Given the description of an element on the screen output the (x, y) to click on. 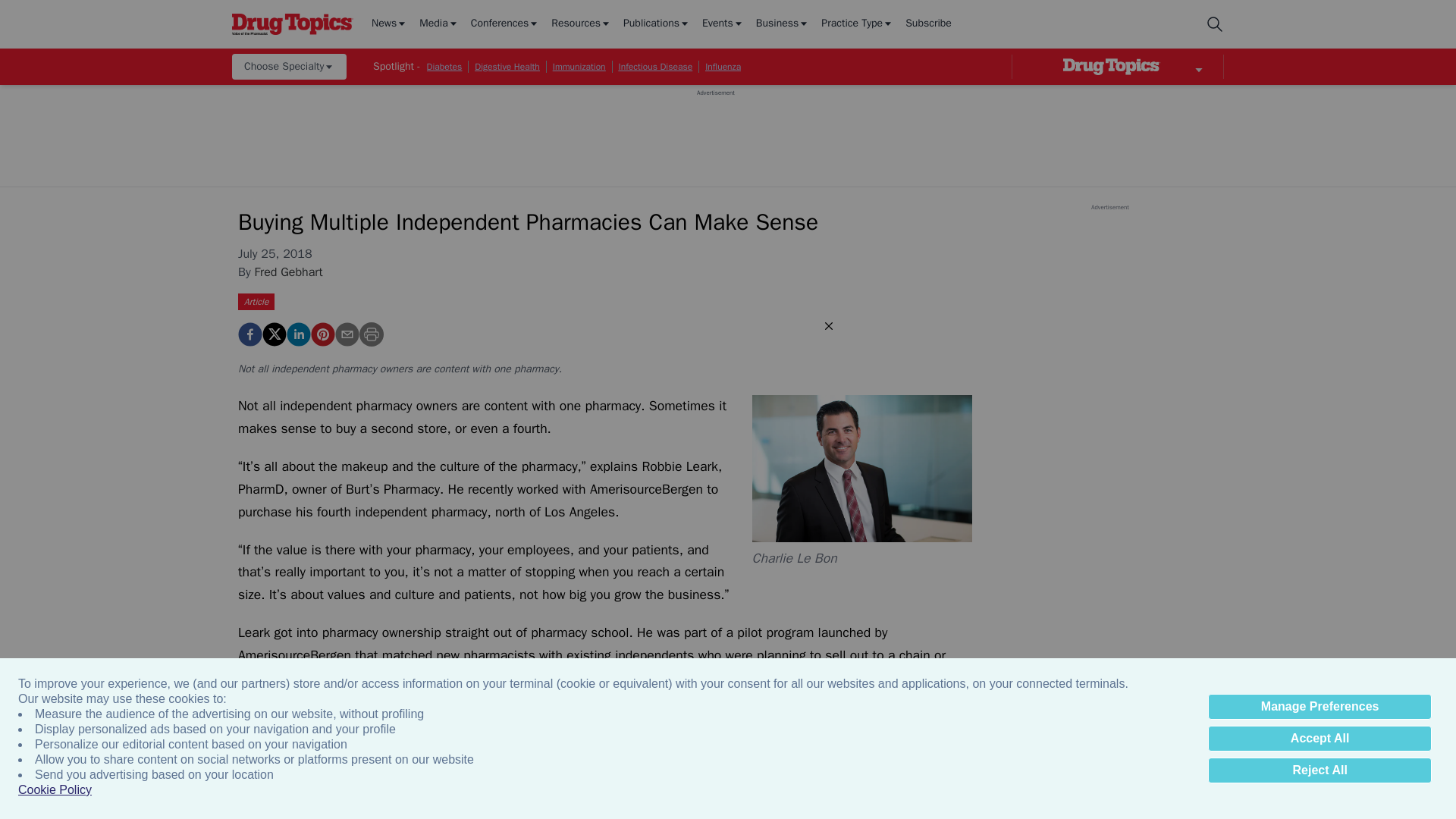
Publications (656, 23)
Reject All (1319, 769)
Manage Preferences (1319, 706)
Accept All (1319, 738)
Conferences (505, 23)
Media (438, 23)
Buying Multiple Independent Pharmacies Can Make Sense (250, 334)
Cookie Policy (54, 789)
News (389, 23)
Events (722, 23)
Resources (581, 23)
